Given the description of an element on the screen output the (x, y) to click on. 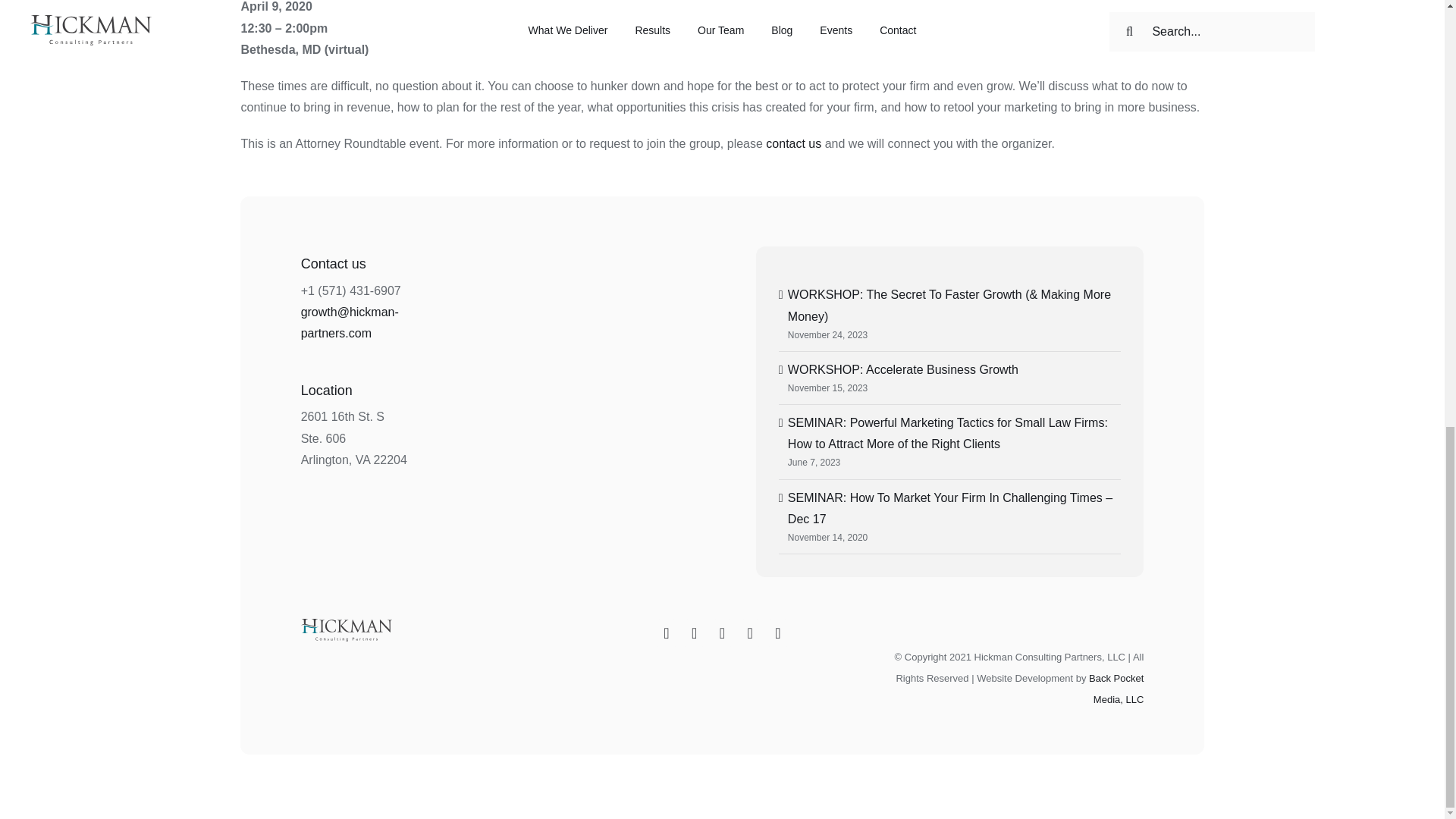
WORKSHOP: Accelerate Business Growth (902, 369)
Hickman-Consulting-Partners-logo (346, 630)
Back Pocket Media, LLC (1115, 688)
contact us (793, 143)
